Given the description of an element on the screen output the (x, y) to click on. 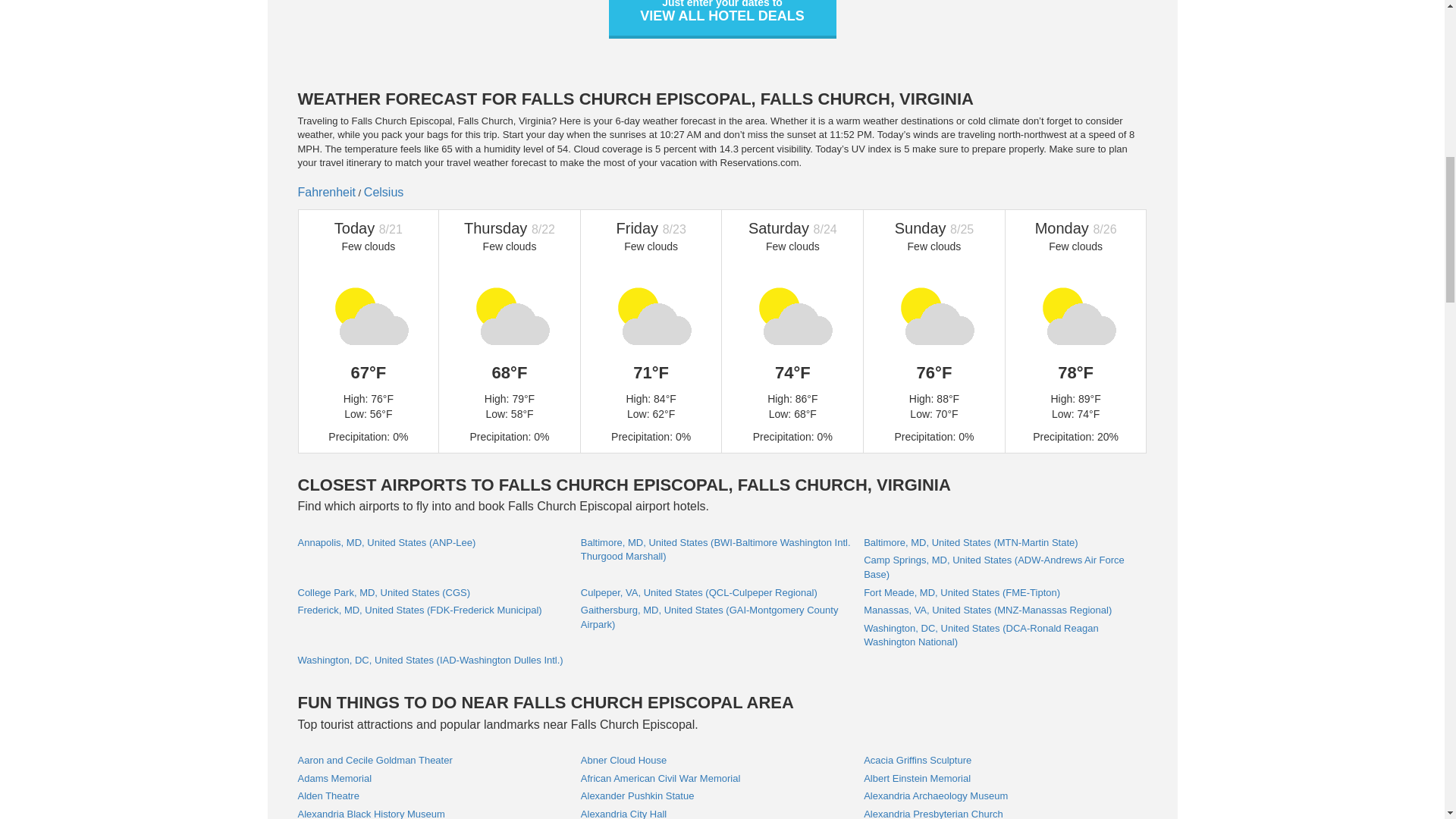
Alexander Pushkin Statue (637, 795)
Alexandria City Hall (623, 813)
Celsius (383, 192)
Alden Theatre (327, 795)
African American Civil War Memorial (659, 778)
Alexandria Archaeology Museum (935, 795)
Fahrenheit (326, 192)
Acacia Griffins Sculpture (917, 759)
Albert Einstein Memorial (917, 778)
Abner Cloud House (623, 759)
